Given the description of an element on the screen output the (x, y) to click on. 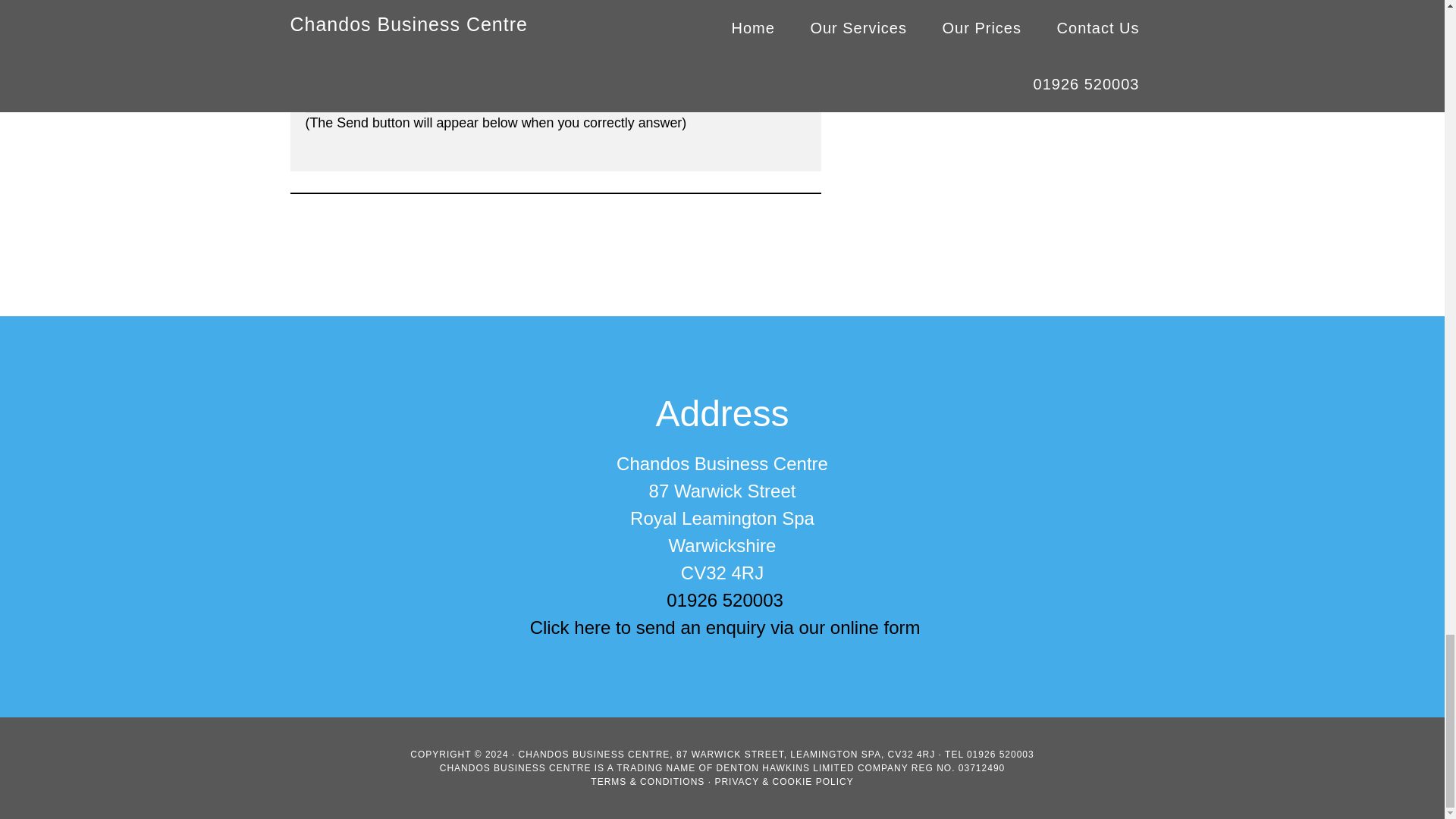
01926 520003 (724, 599)
Click here to send an enquiry via our online form (724, 627)
